Given the description of an element on the screen output the (x, y) to click on. 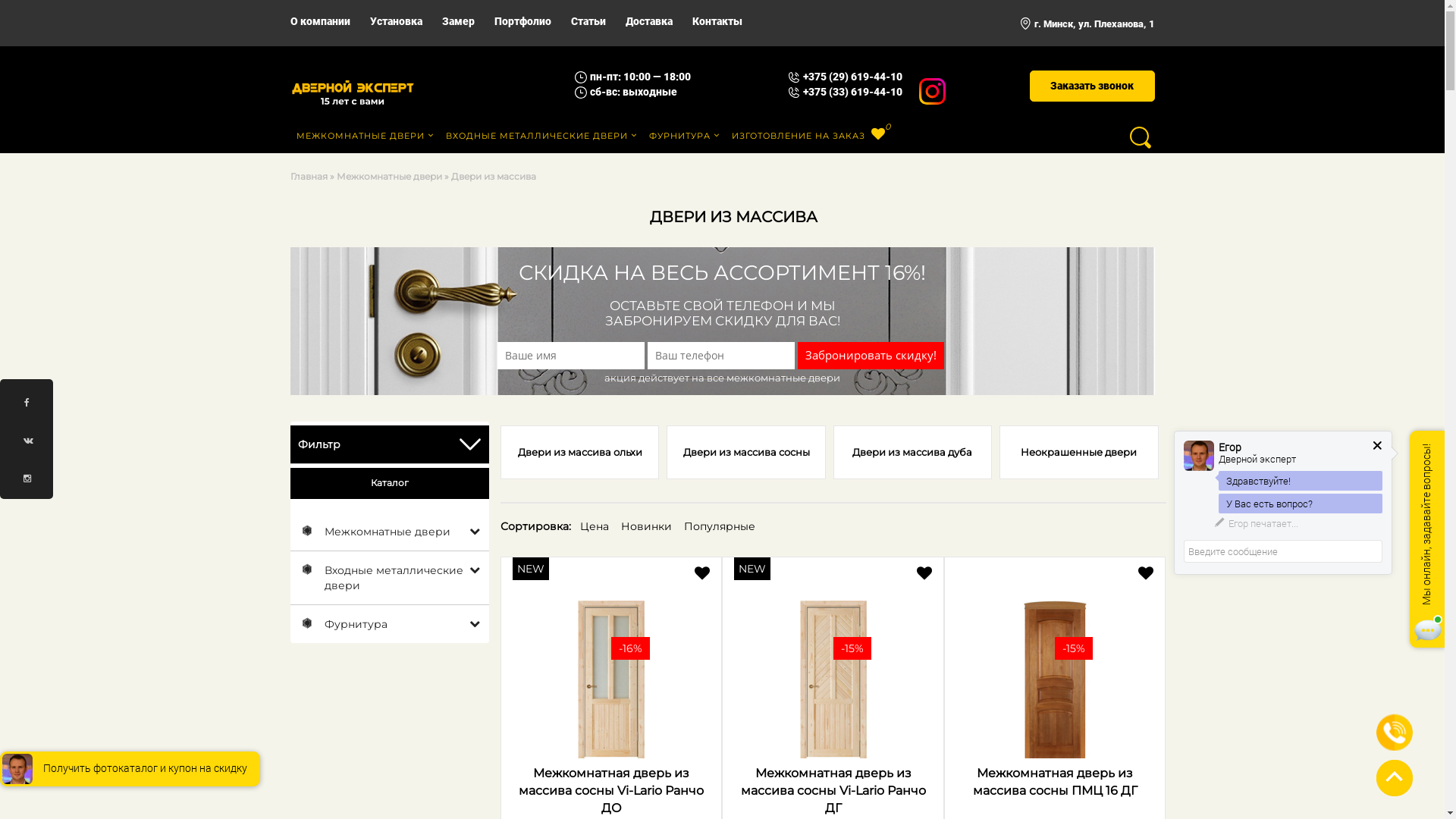
+375 (33) 619-44-10 Element type: text (852, 91)
Instagram Element type: hover (932, 85)
+375 (29) 619-44-10 Element type: text (852, 76)
0 Element type: text (878, 135)
